Given the description of an element on the screen output the (x, y) to click on. 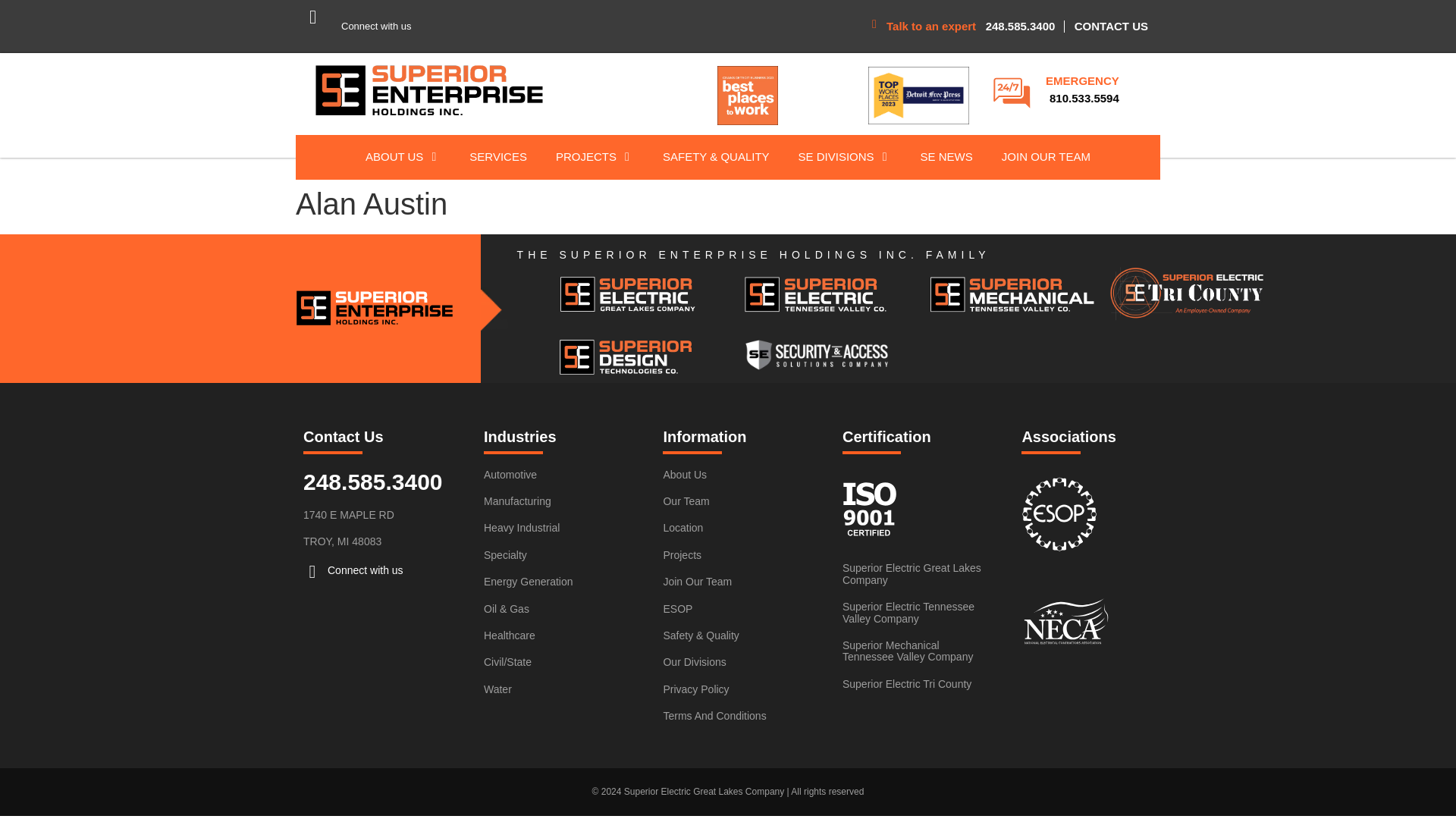
JOIN OUR TEAM (1045, 157)
ABOUT US (394, 157)
CONTACT US (1111, 25)
SE NEWS (946, 157)
PROJECTS (585, 157)
248.585.3400 (1020, 25)
SE DIVISIONS (836, 157)
810.533.5594 (1084, 97)
SERVICES (497, 157)
